Given the description of an element on the screen output the (x, y) to click on. 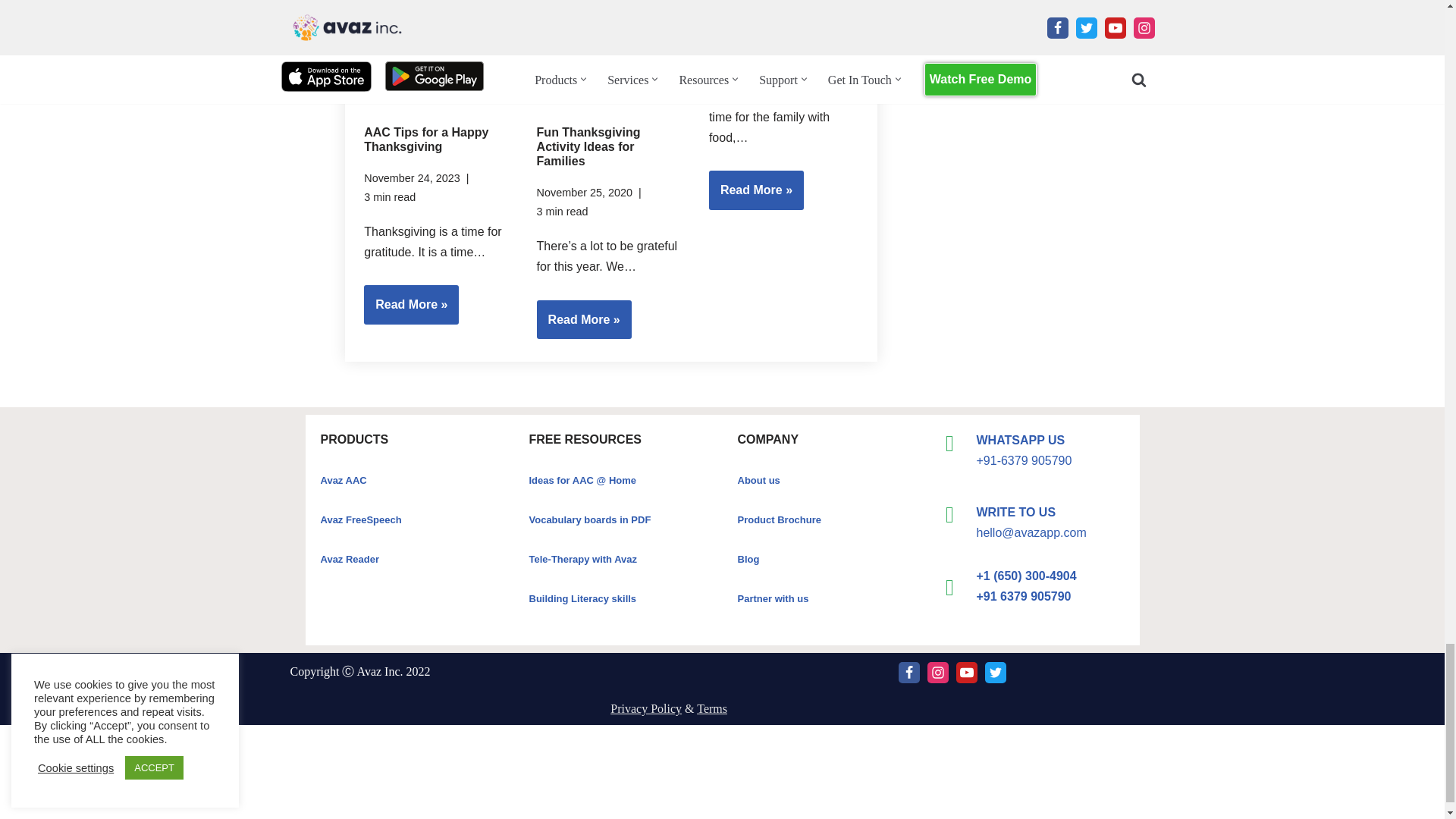
Facebook (909, 672)
